Given the description of an element on the screen output the (x, y) to click on. 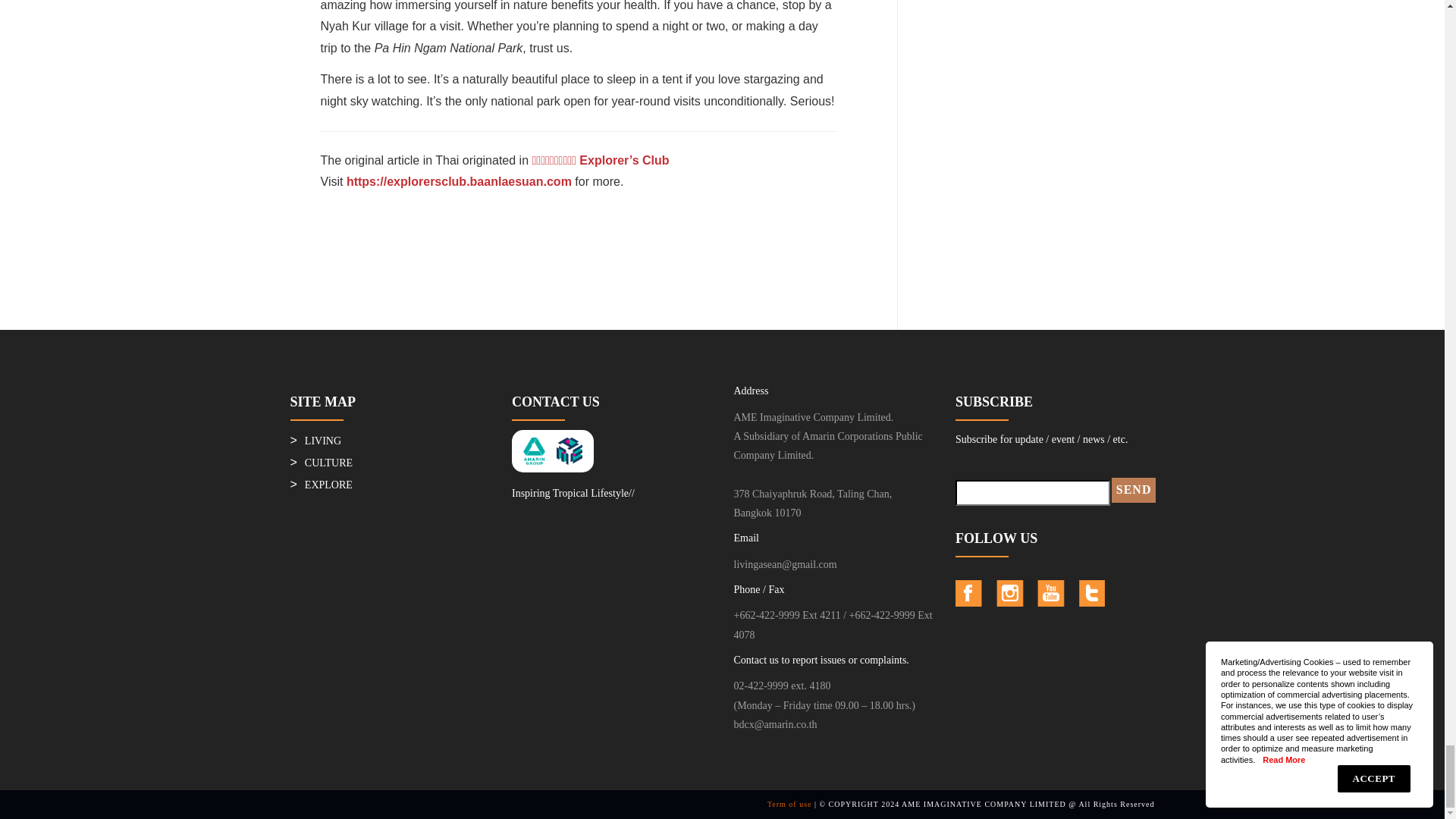
EXPLORE (328, 484)
LIVING (322, 440)
SEND (1134, 489)
CULTURE (328, 462)
SEND (1134, 489)
